Given the description of an element on the screen output the (x, y) to click on. 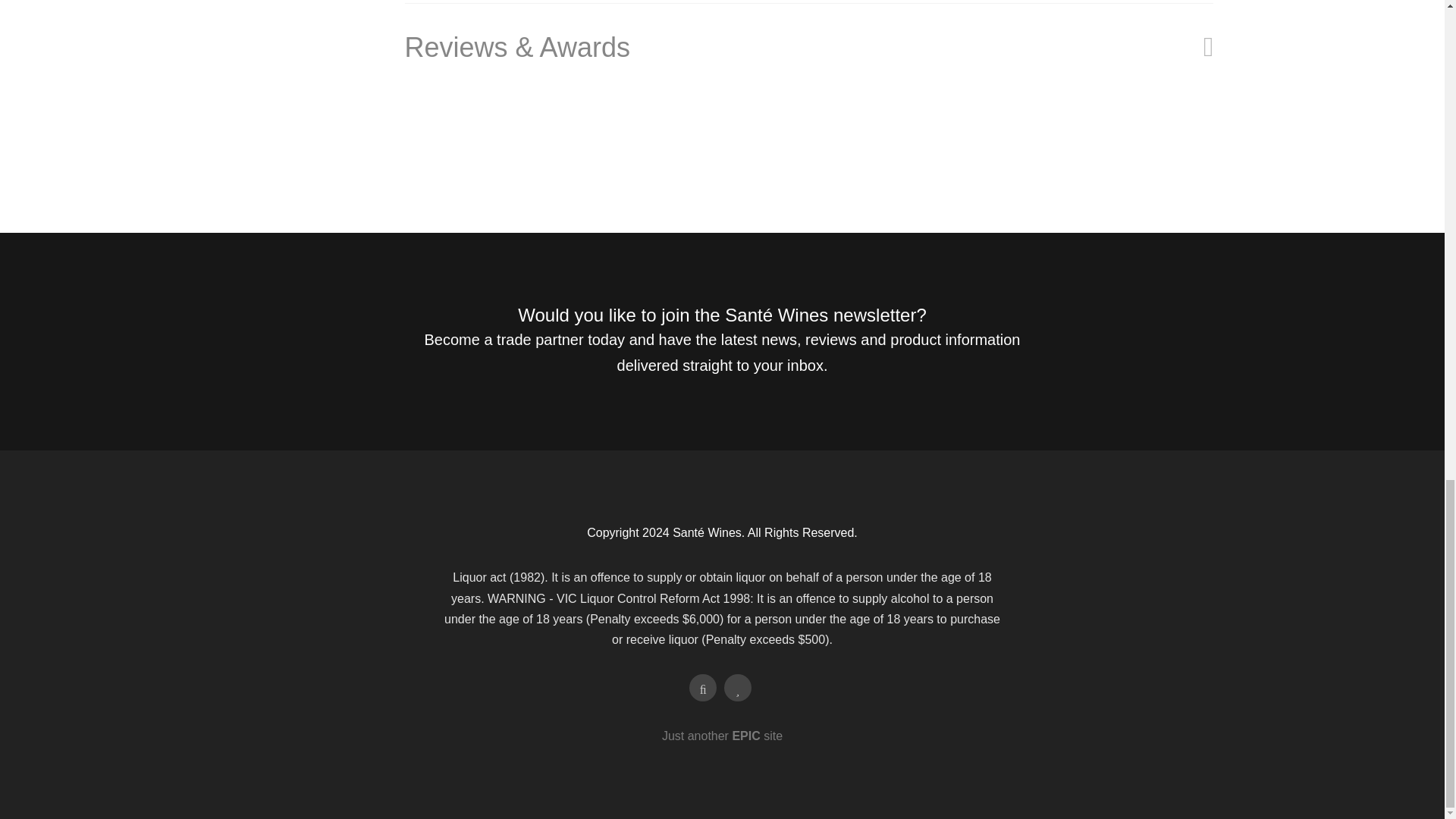
Just another EPIC site (722, 735)
